Given the description of an element on the screen output the (x, y) to click on. 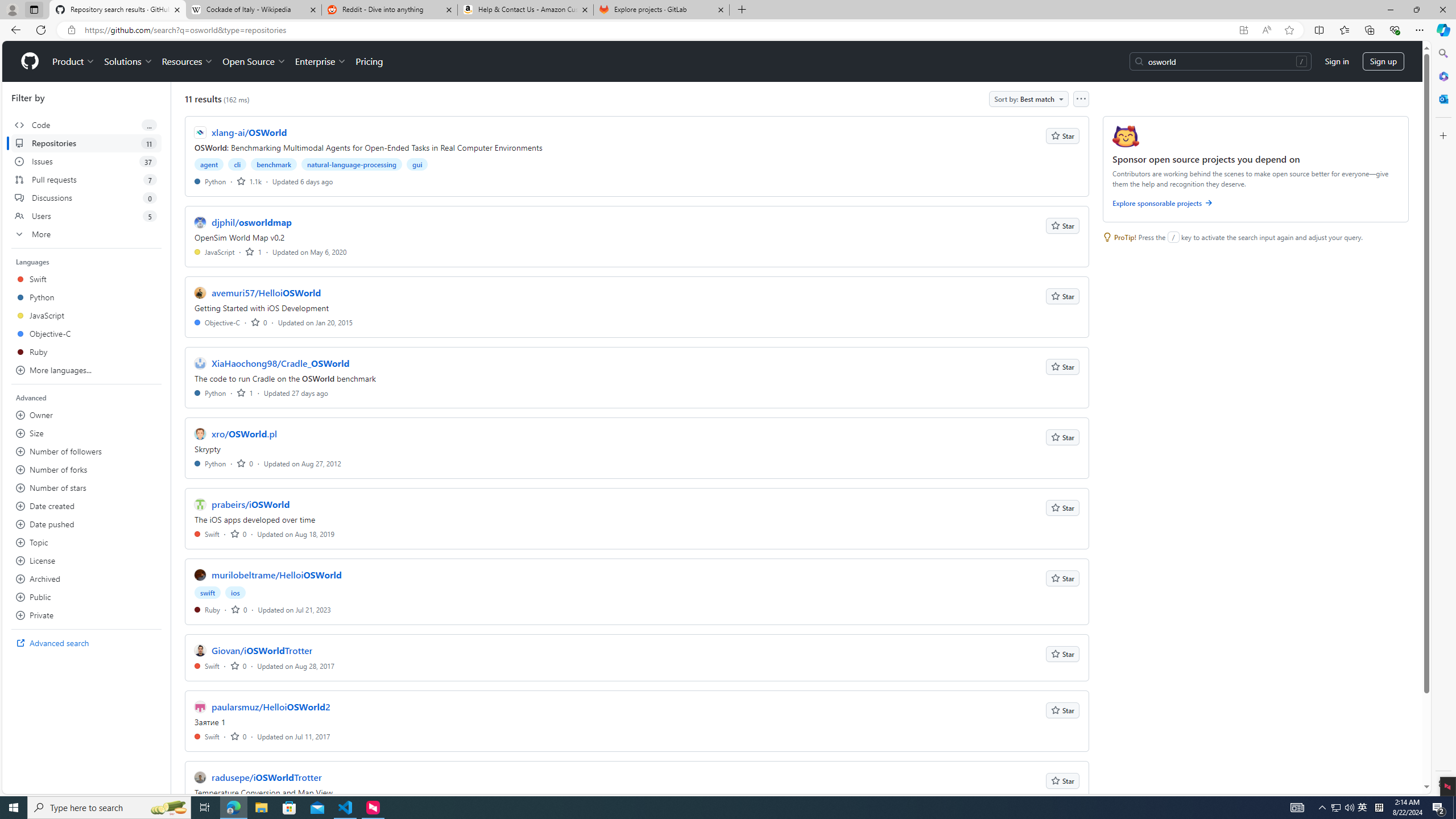
1 stars (244, 392)
Side bar (1443, 418)
Add this page to favorites (Ctrl+D) (1289, 29)
Python (210, 462)
Solutions (128, 60)
Product (74, 60)
Tab actions menu (33, 9)
Pricing (368, 60)
Advanced search (86, 642)
Updated on Jul 11, 2017 (293, 736)
